Given the description of an element on the screen output the (x, y) to click on. 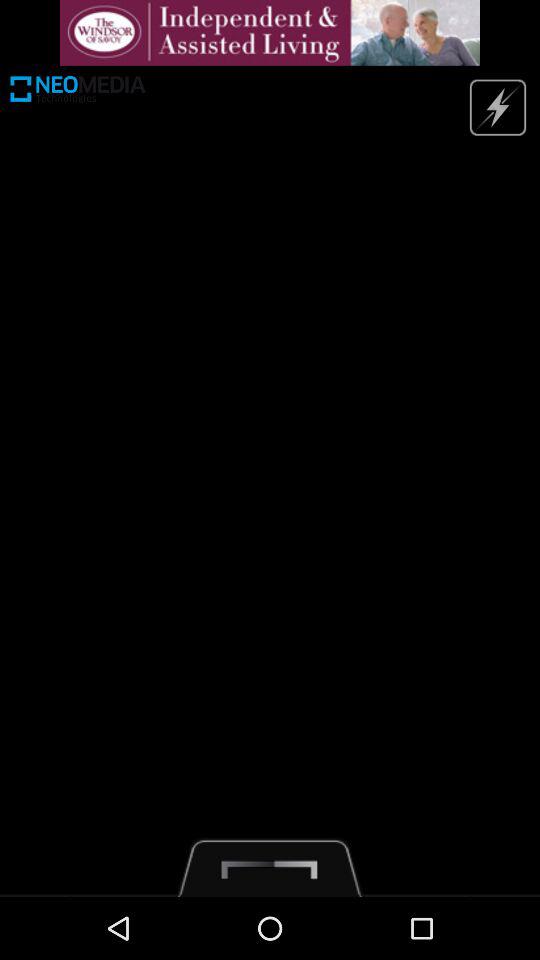
advertisement bar (270, 32)
